Given the description of an element on the screen output the (x, y) to click on. 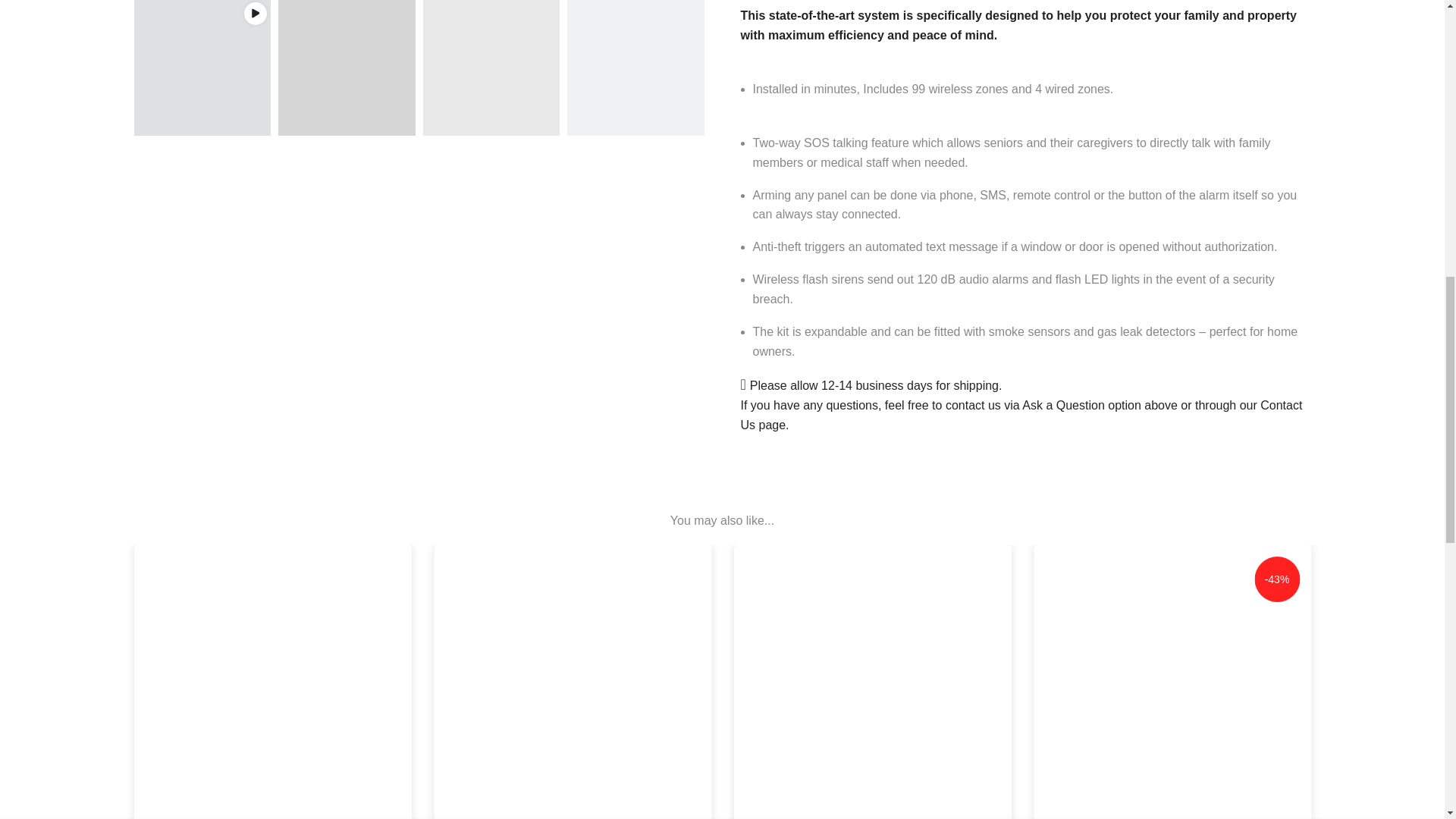
1 (952, 35)
